Given the description of an element on the screen output the (x, y) to click on. 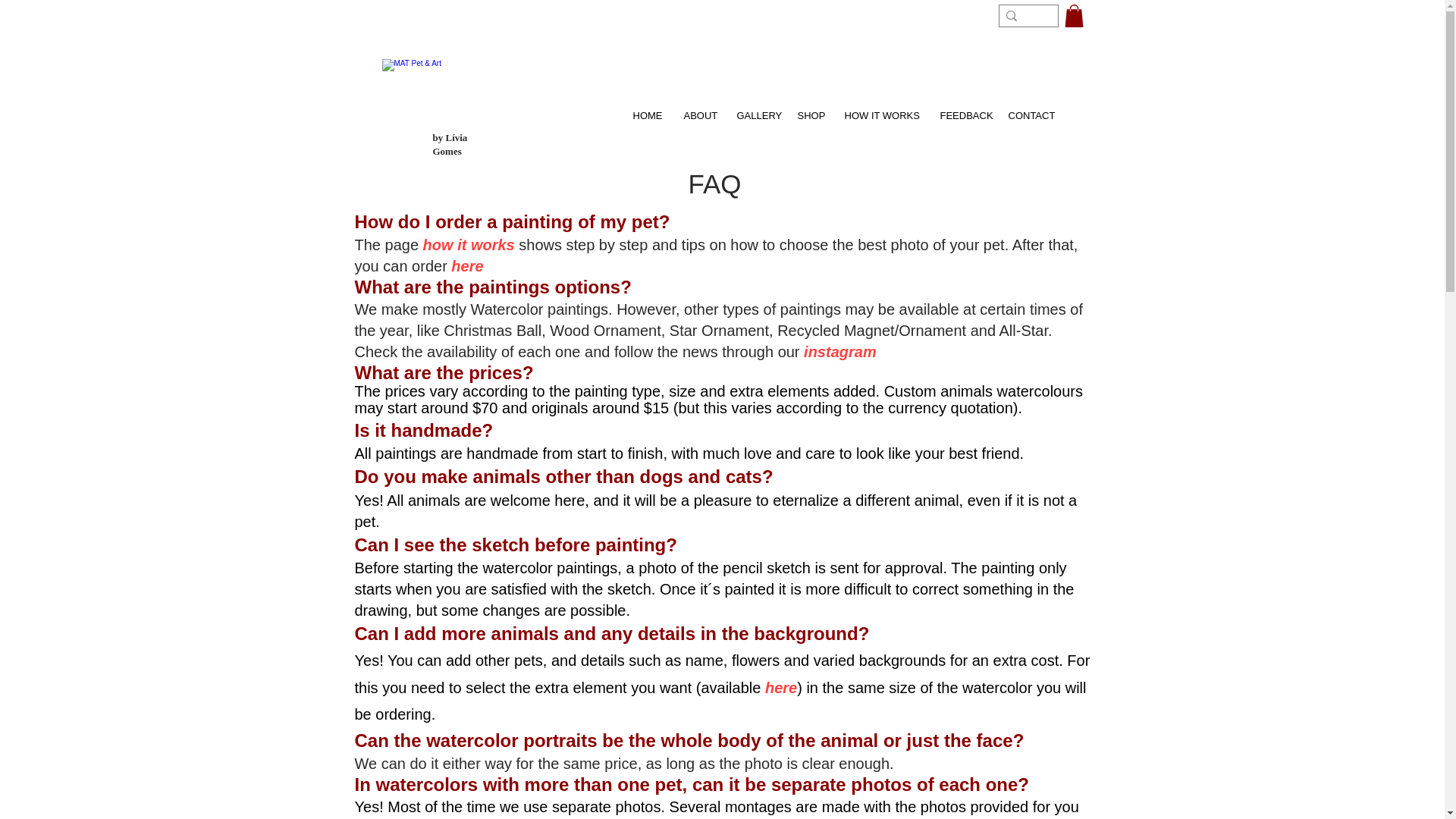
HOME (646, 108)
instagram (839, 351)
how it works (469, 244)
FEEDBACK (963, 108)
ABOUT (699, 108)
GALLERY (756, 108)
SHOP (810, 108)
here (467, 265)
here (780, 686)
CONTACT (1030, 108)
